Given the description of an element on the screen output the (x, y) to click on. 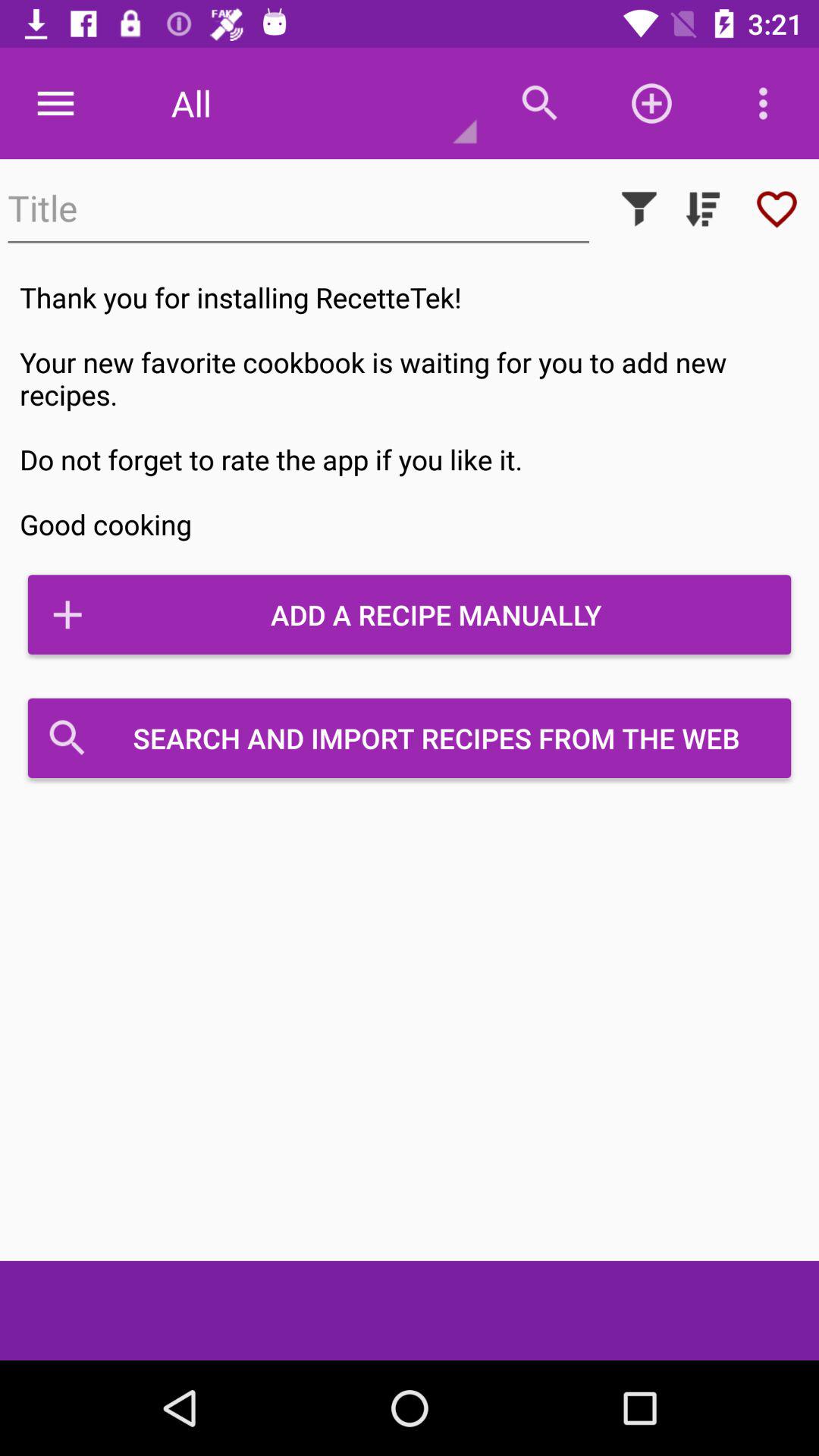
sort (702, 208)
